Given the description of an element on the screen output the (x, y) to click on. 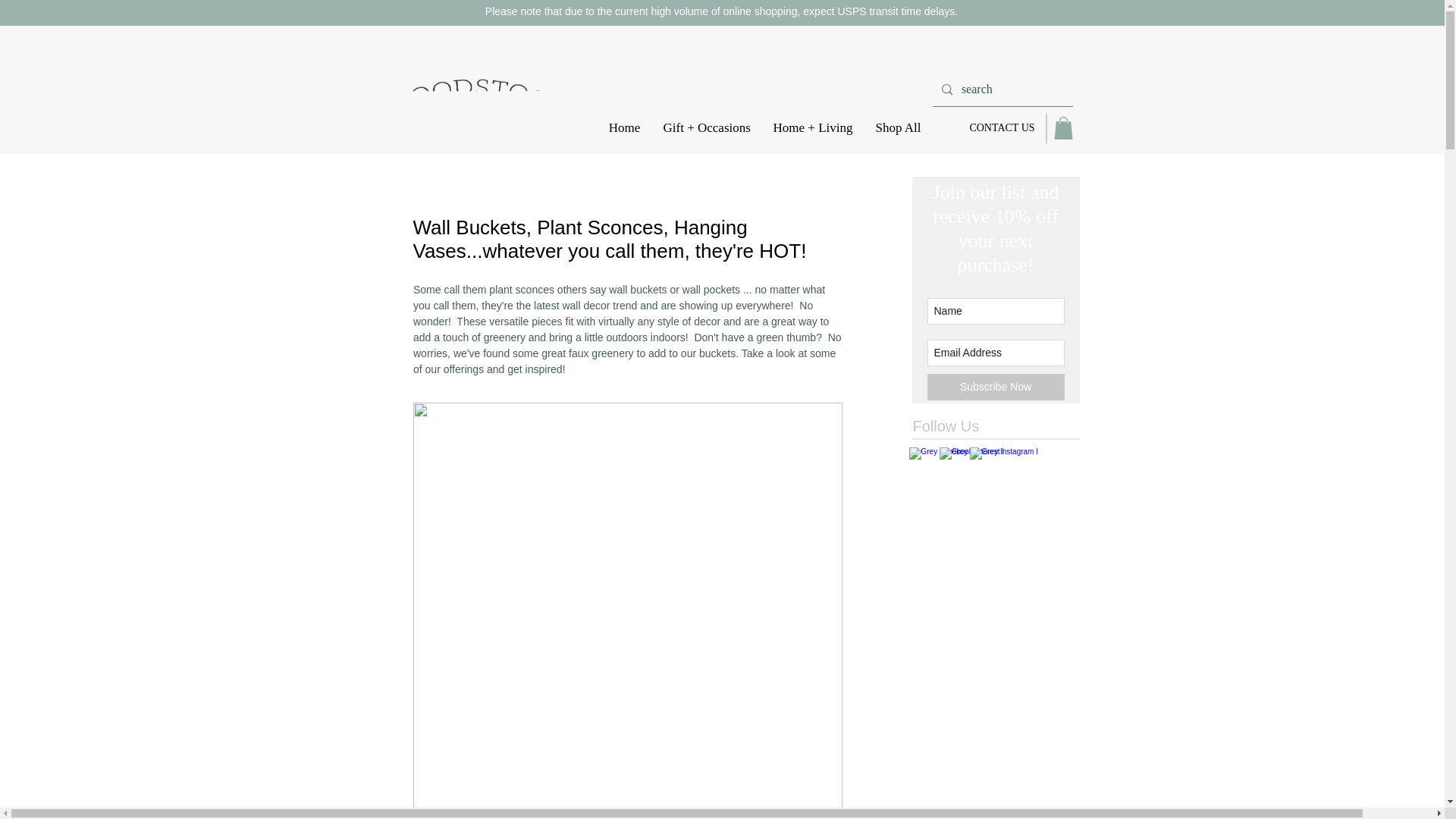
Home (624, 128)
Shop All (898, 128)
CONTACT US (1002, 127)
Subscribe Now (995, 386)
